Given the description of an element on the screen output the (x, y) to click on. 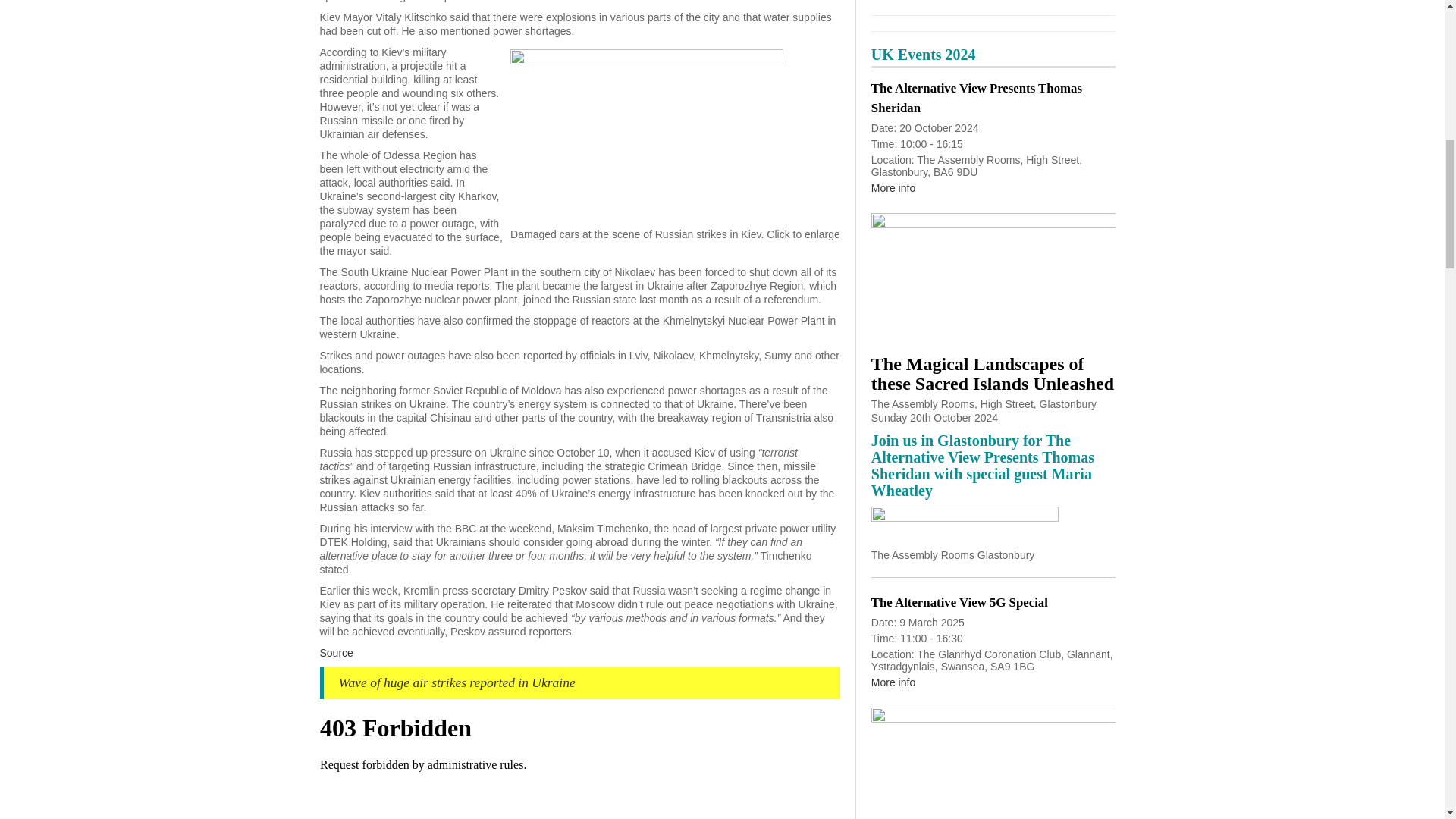
Source (336, 653)
Wave of huge air strikes reported in Ukraine (456, 682)
